Given the description of an element on the screen output the (x, y) to click on. 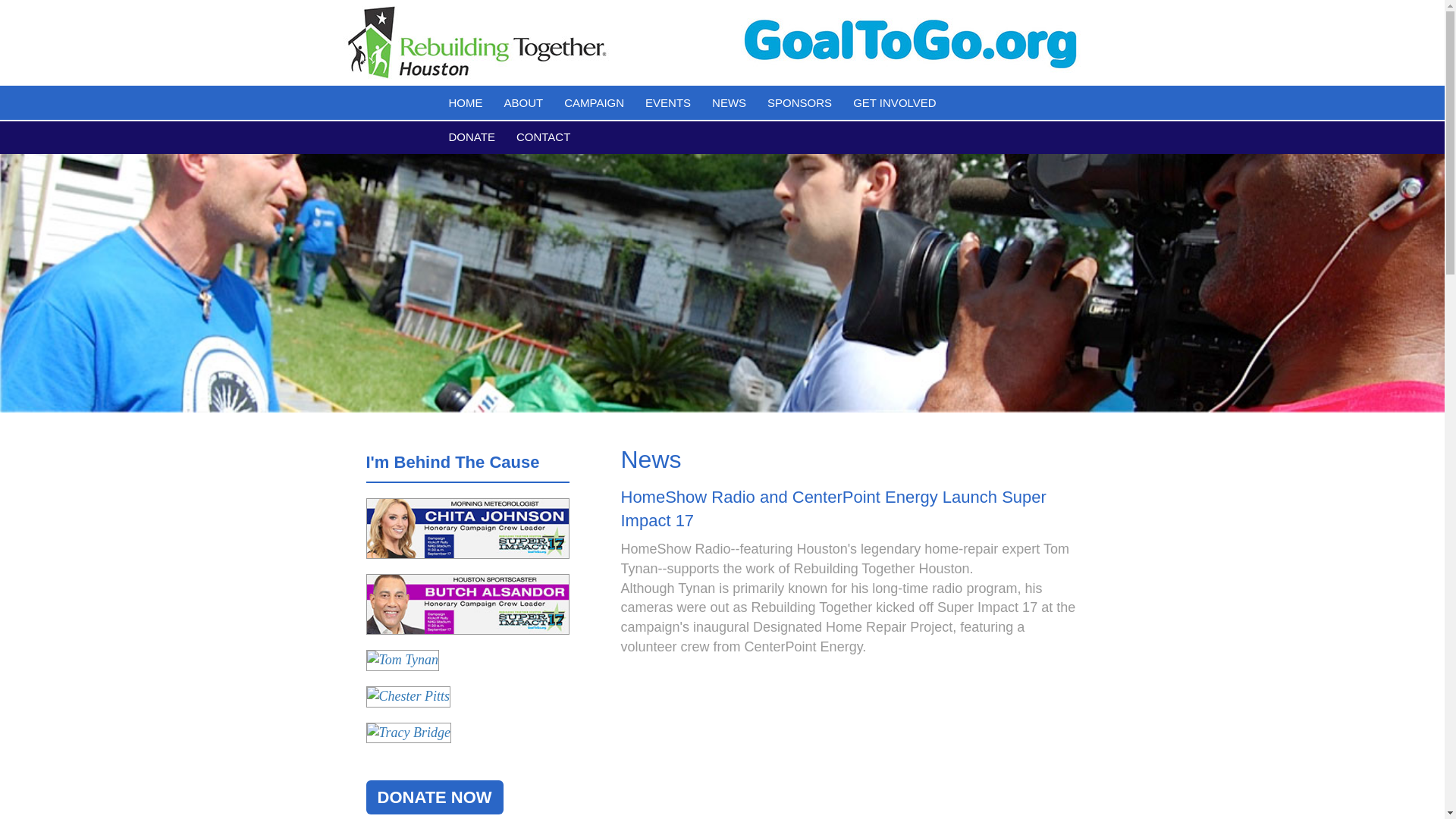
DONATE NOW (433, 797)
SPONSORS (800, 102)
CAMPAIGN (593, 102)
CONTACT (542, 136)
DONATE (471, 136)
Chester Pitts (407, 696)
ABOUT (523, 102)
EVENTS (667, 102)
GET INVOLVED (894, 102)
Tom Tynan (402, 660)
